Given the description of an element on the screen output the (x, y) to click on. 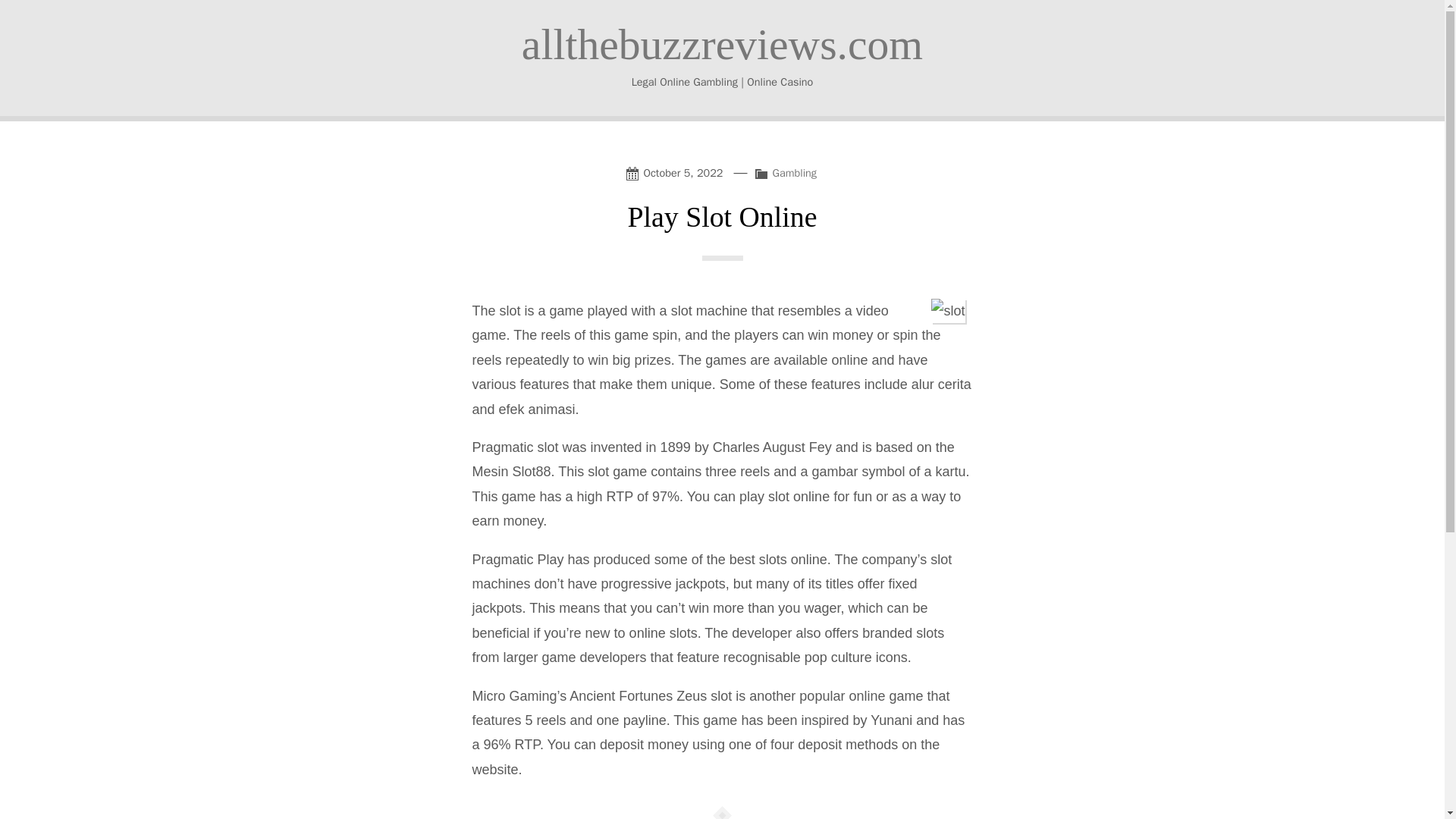
Gambling (793, 172)
allthebuzzreviews.com (722, 43)
